Given the description of an element on the screen output the (x, y) to click on. 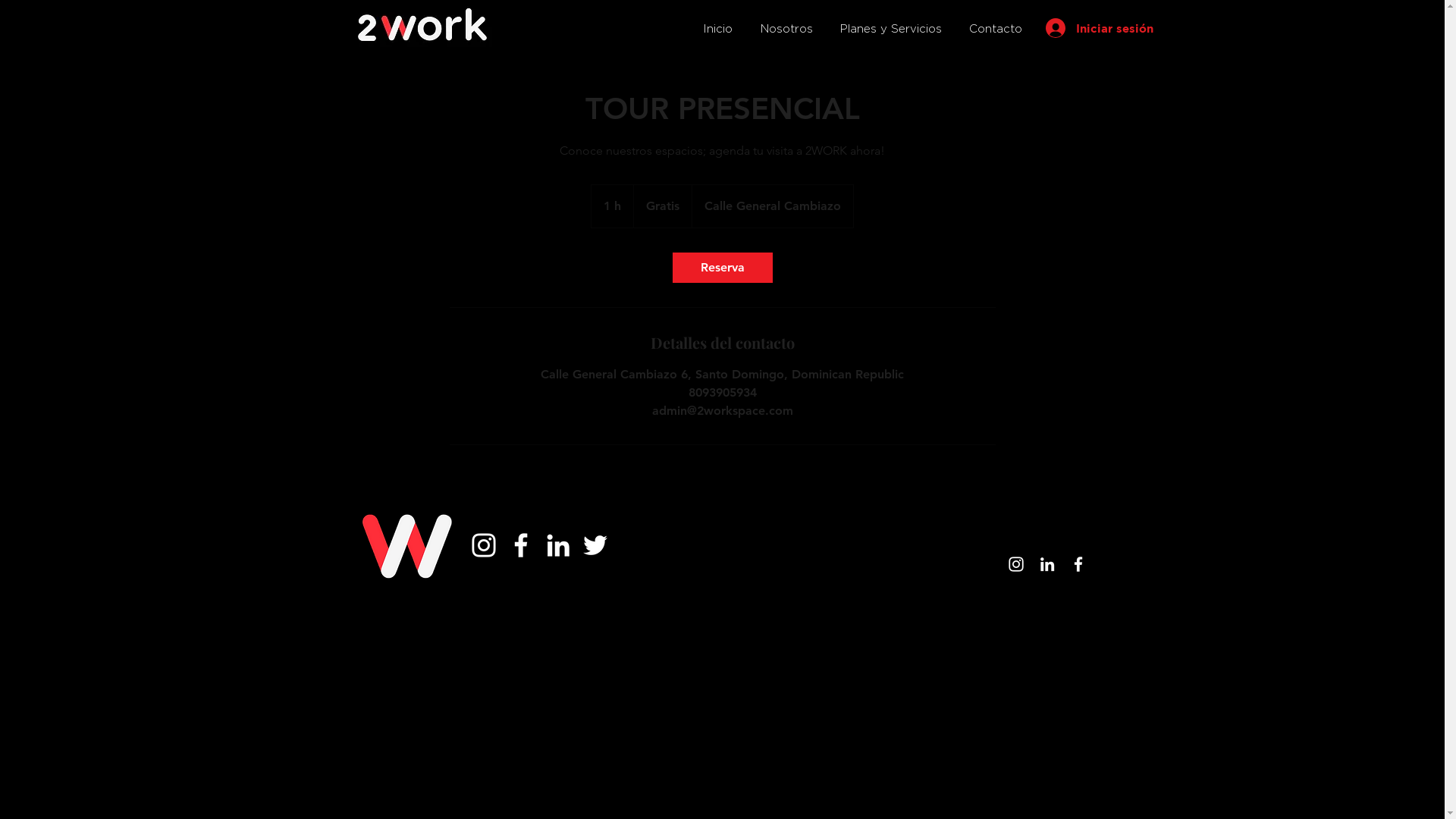
Inicio Element type: text (717, 28)
Planes y Servicios Element type: text (890, 28)
Reserva Element type: text (721, 267)
Nosotros Element type: text (785, 28)
Contacto Element type: text (995, 28)
